Given the description of an element on the screen output the (x, y) to click on. 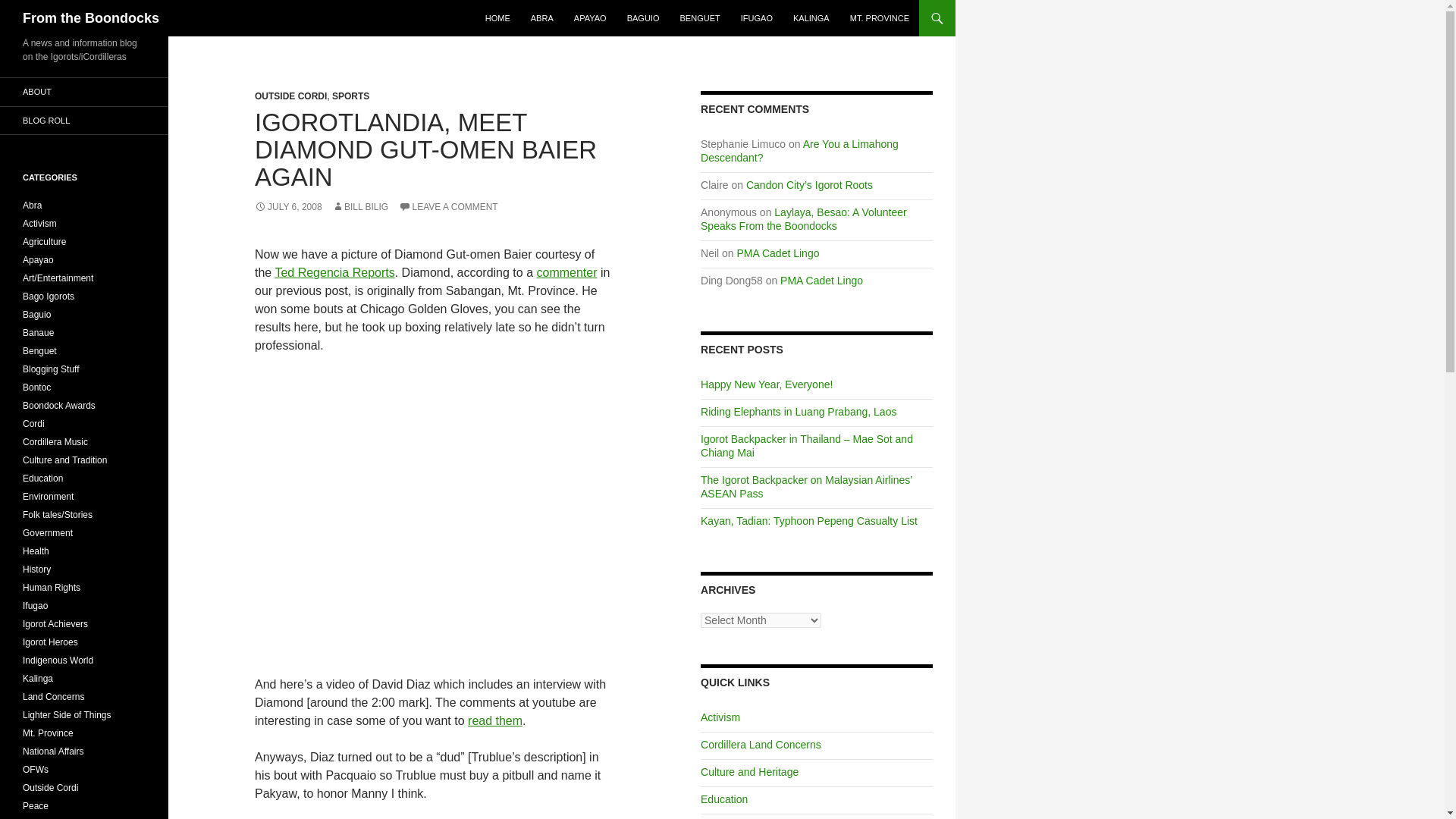
MT. PROVINCE (879, 18)
Happy New Year, Everyone! (766, 384)
Ted Regencia Reports (334, 272)
OUTSIDE CORDI (290, 95)
PMA Cadet Lingo (821, 280)
BAGUIO (642, 18)
SPORTS (350, 95)
BENGUET (700, 18)
Laylaya, Besao: A Volunteer Speaks From the Boondocks (803, 218)
Cordillera Land Concerns (760, 744)
